Given the description of an element on the screen output the (x, y) to click on. 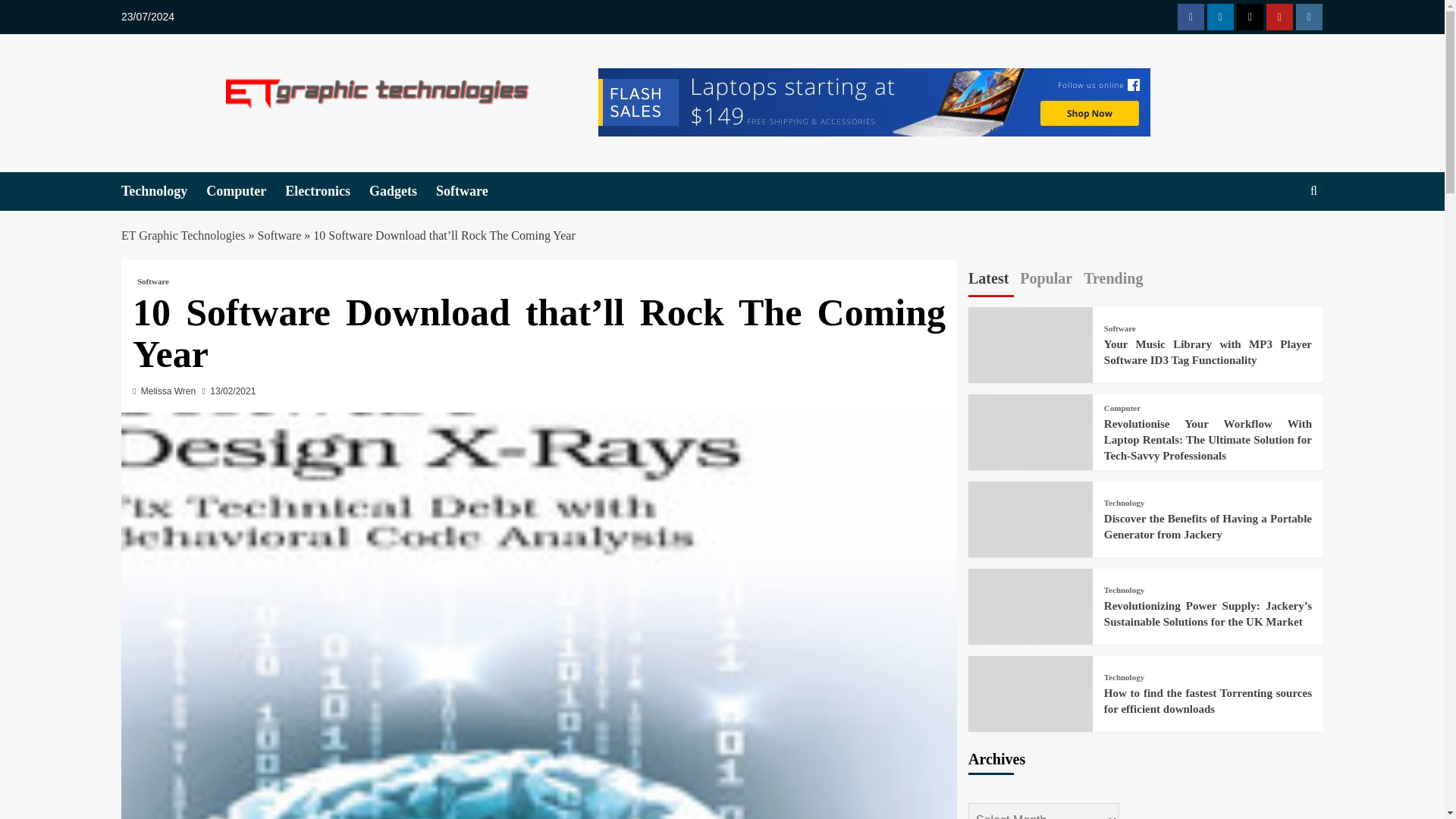
Technology (163, 190)
Facebook (1190, 17)
Software (470, 190)
Electronics (327, 190)
Search (1278, 237)
Instagram (1308, 17)
Software (152, 281)
Youtube (1279, 17)
Twitter (1249, 17)
Computer (245, 190)
LinkedIn (1220, 17)
